Given the description of an element on the screen output the (x, y) to click on. 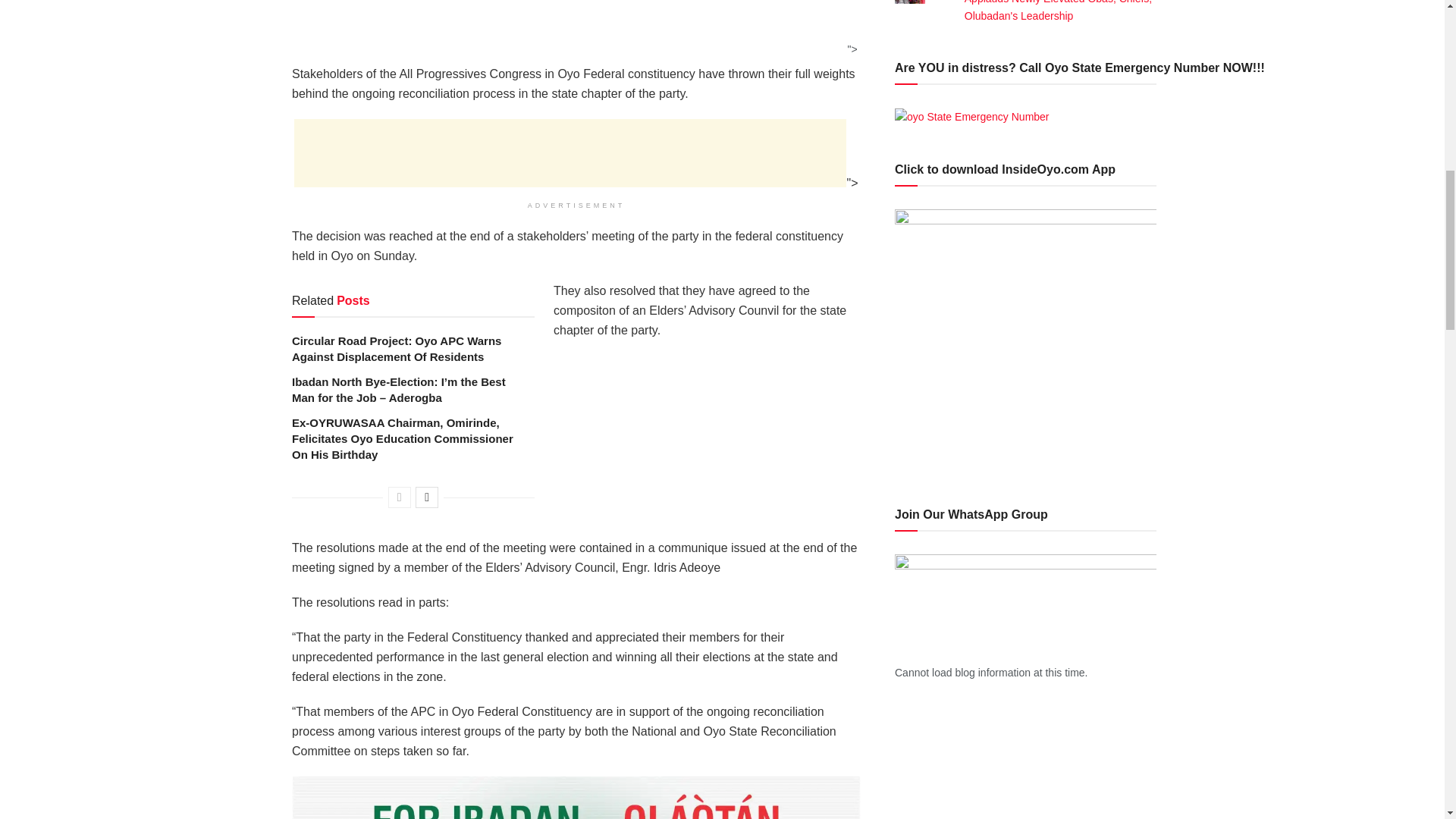
Are YOU in distress? Call Oyo State Emergency Number NOW!!! (972, 116)
Next (426, 496)
Previous (399, 496)
